Given the description of an element on the screen output the (x, y) to click on. 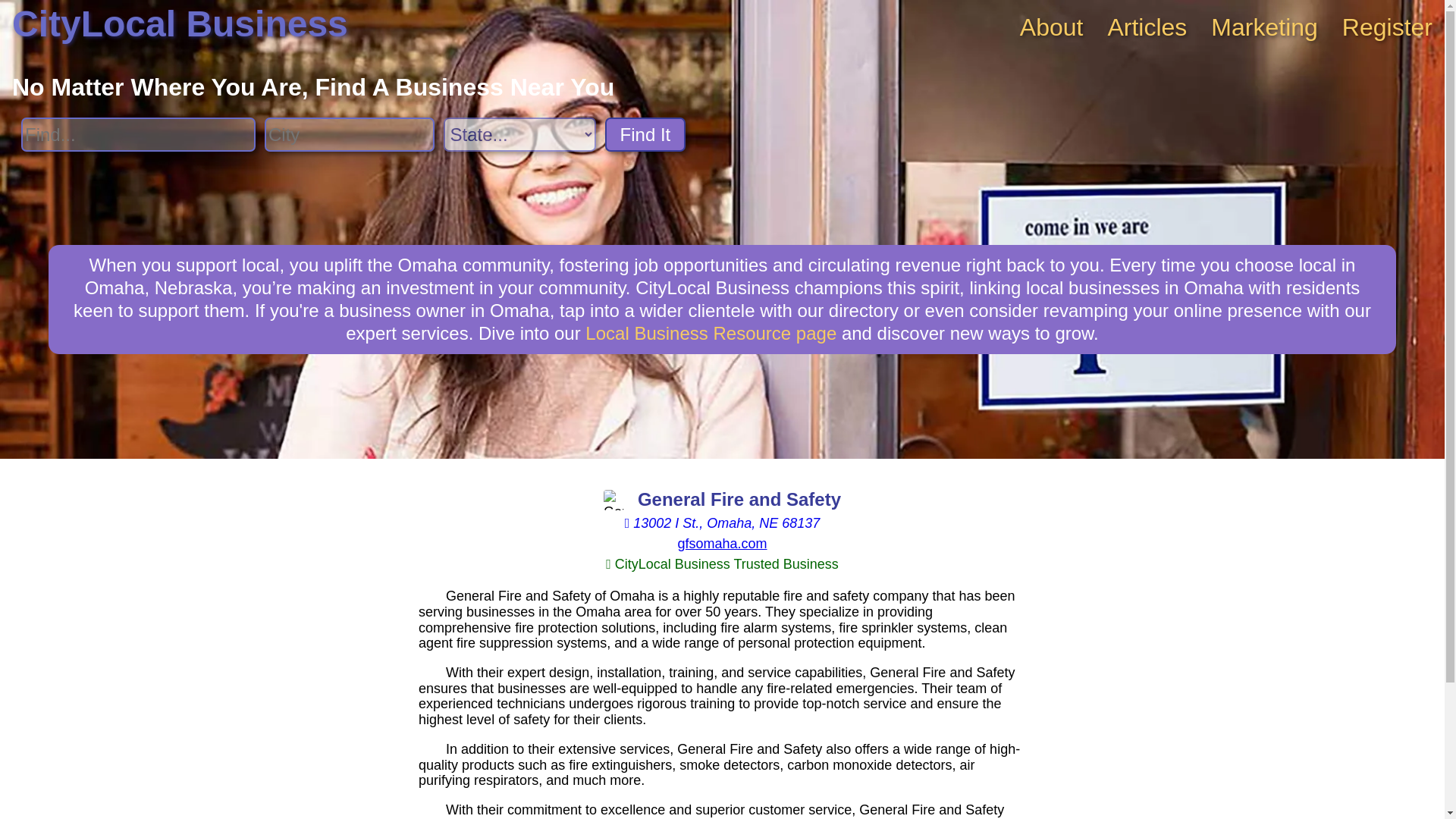
Business Marketing Opportunites (1264, 27)
About CityLocal Business (1051, 27)
Articles (1146, 27)
Marketing (1264, 27)
Articles (1146, 27)
Find It (645, 134)
View on Google Maps (721, 523)
Register (1387, 27)
Local Business Resource page (710, 332)
